Given the description of an element on the screen output the (x, y) to click on. 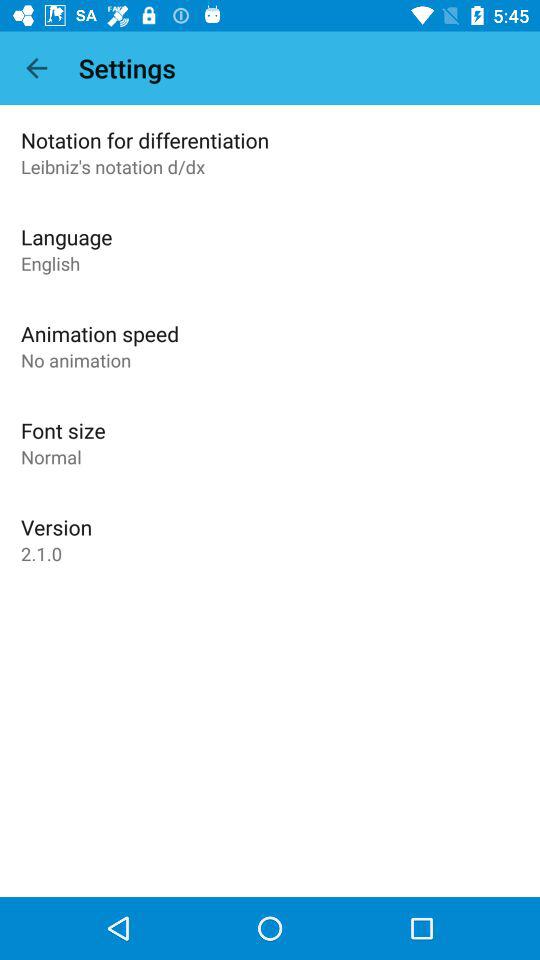
select the app below font size (51, 456)
